Given the description of an element on the screen output the (x, y) to click on. 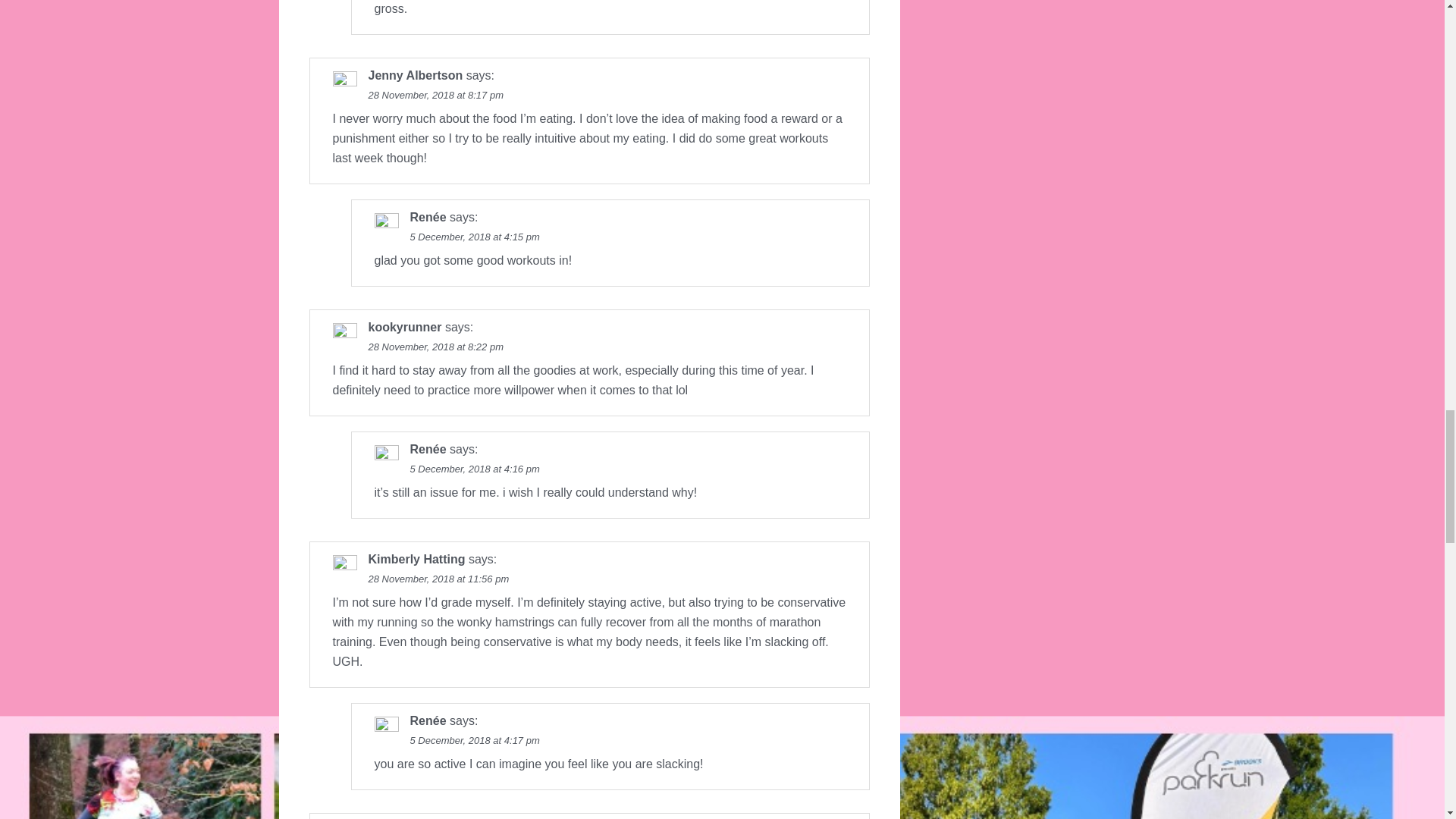
Kimberly Hatting (416, 558)
Jenny Albertson (415, 74)
kookyrunner (405, 327)
5 December, 2018 at 4:16 pm (473, 469)
28 November, 2018 at 8:17 pm (435, 94)
28 November, 2018 at 8:22 pm (435, 346)
5 December, 2018 at 4:15 pm (473, 236)
28 November, 2018 at 11:56 pm (438, 578)
5 December, 2018 at 4:17 pm (473, 740)
